Given the description of an element on the screen output the (x, y) to click on. 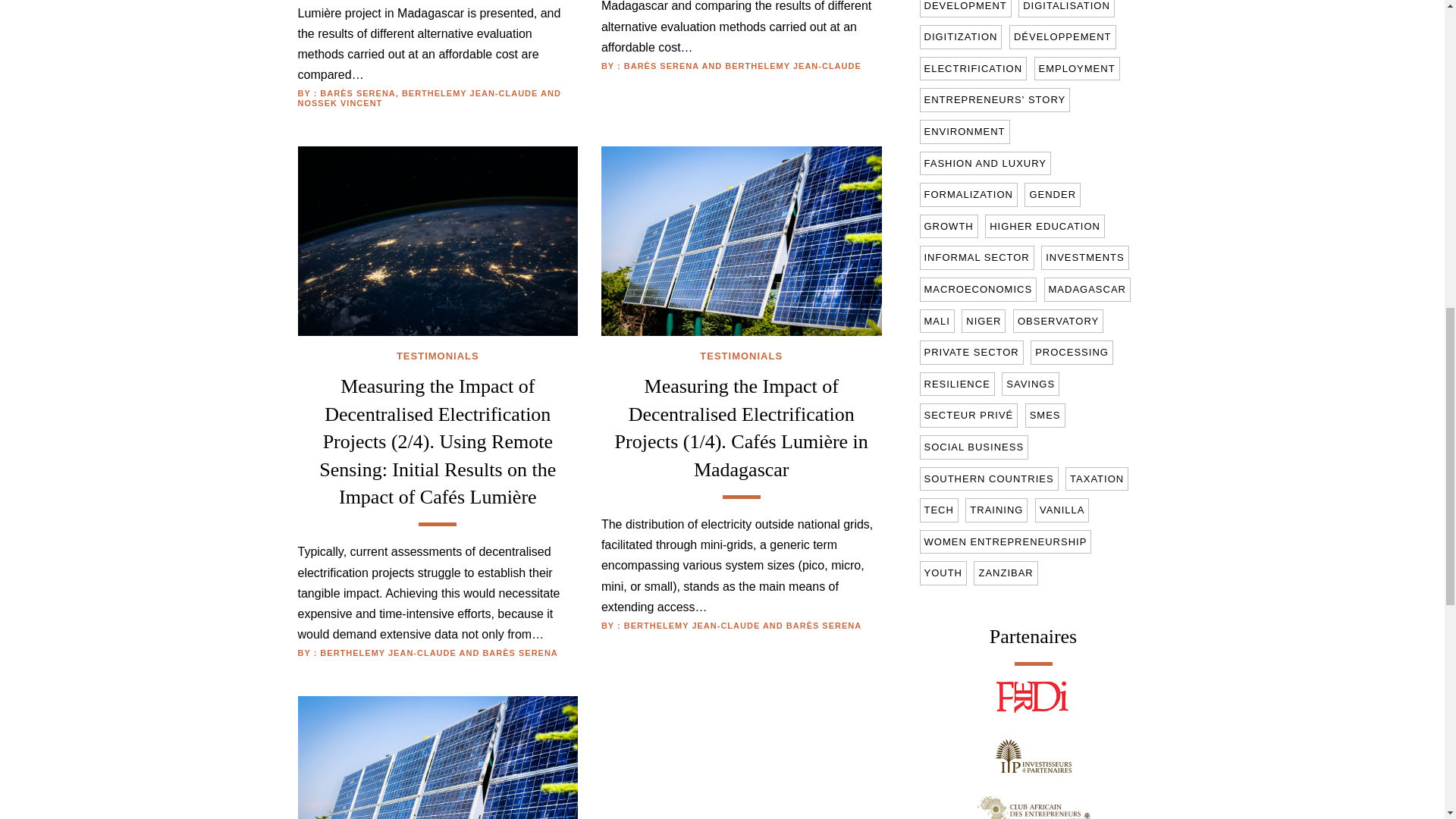
Posts by Berthelemy Jean-Claude (792, 65)
Posts by Berthelemy Jean-Claude (469, 92)
NOSSEK VINCENT (339, 102)
Posts by Nossek Vincent (339, 102)
BERTHELEMY JEAN-CLAUDE (469, 92)
